Given the description of an element on the screen output the (x, y) to click on. 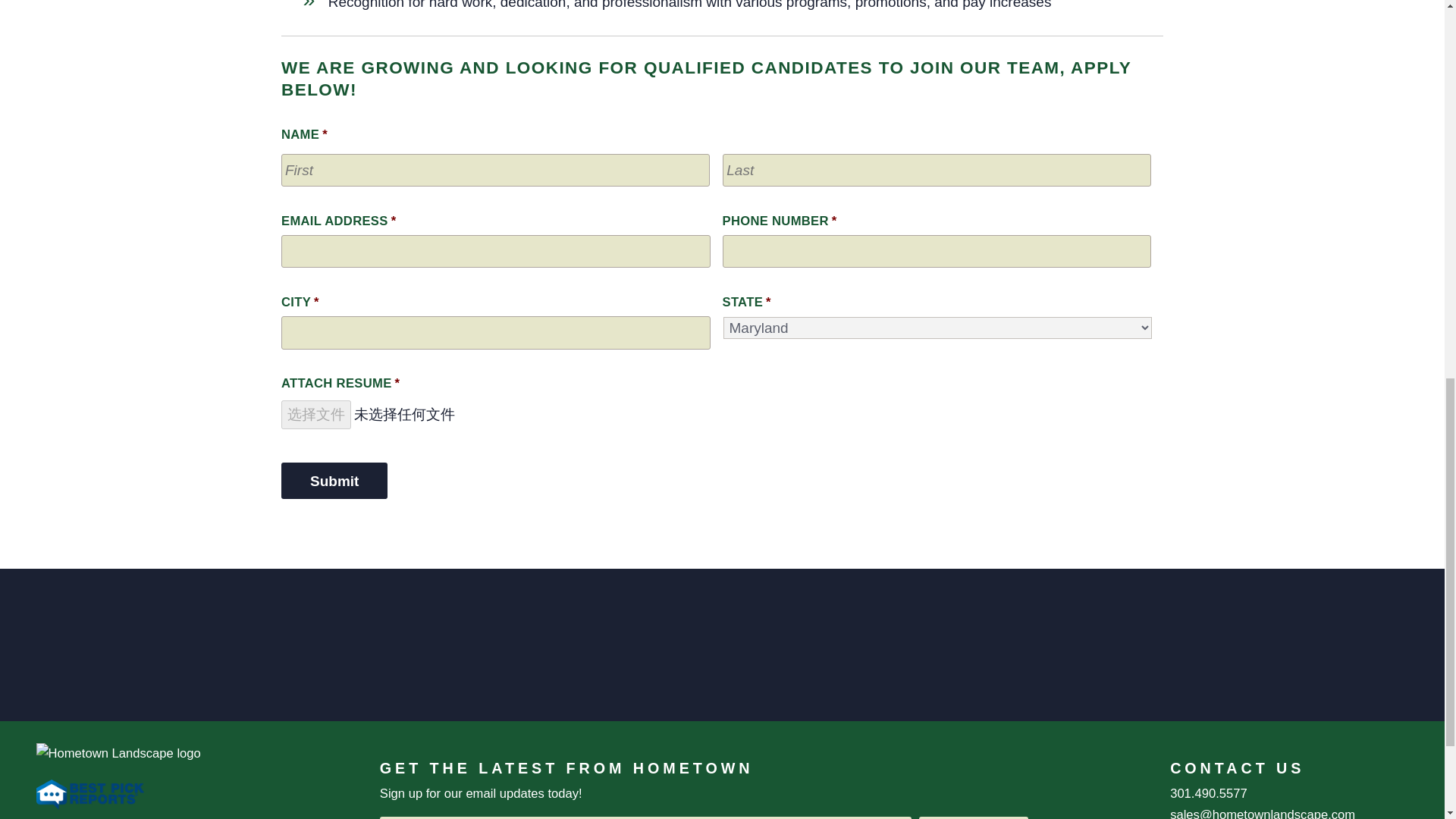
Sign Up (972, 817)
Submit (334, 480)
